Given the description of an element on the screen output the (x, y) to click on. 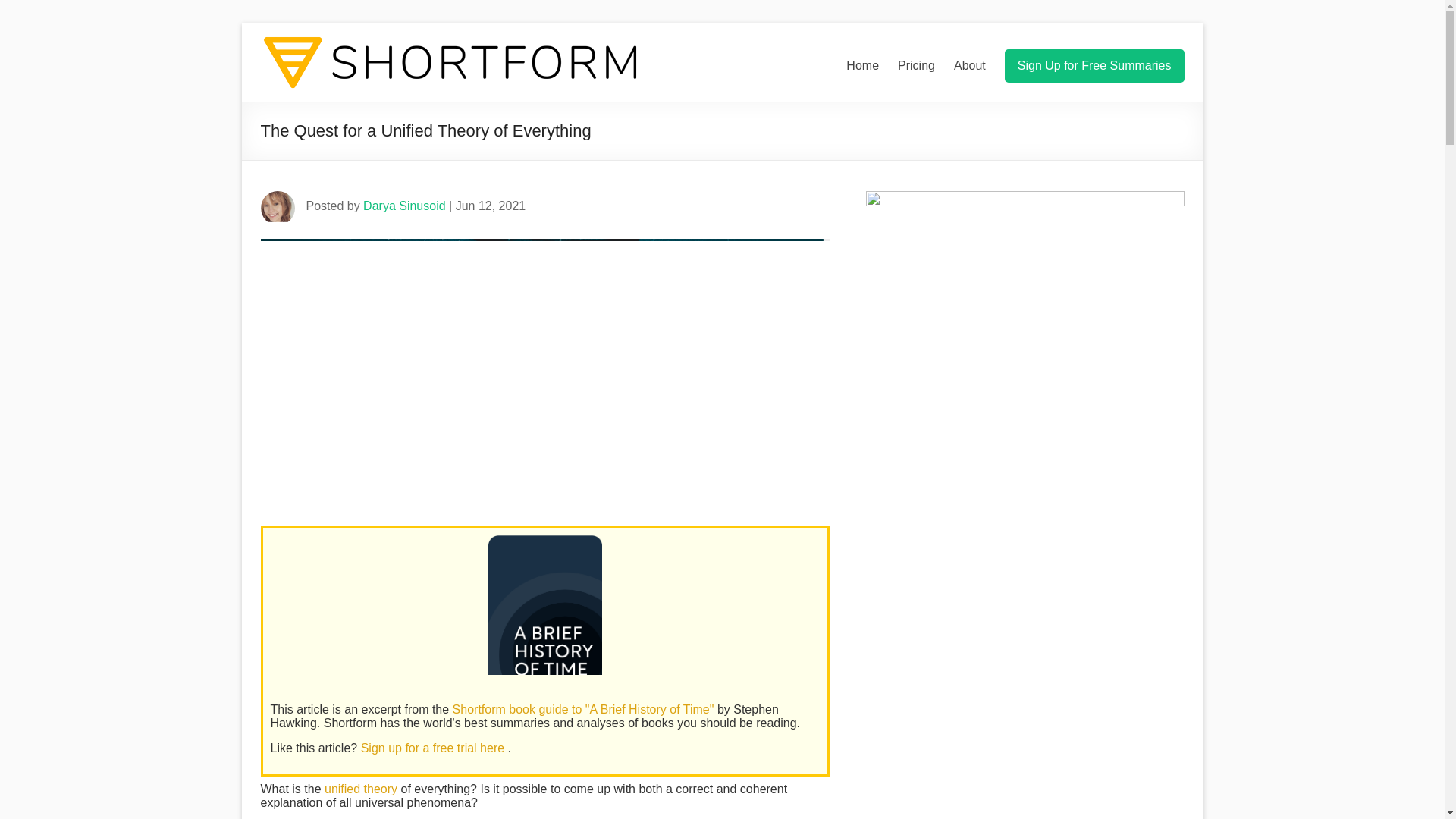
About (969, 65)
Home (862, 65)
unified theory (360, 788)
Sign up for a free trial here (434, 748)
Sign Up for Free Summaries (1094, 65)
Pricing (916, 65)
Shortform book guide to "A Brief History of Time" (584, 708)
Darya Sinusoid (403, 205)
